Given the description of an element on the screen output the (x, y) to click on. 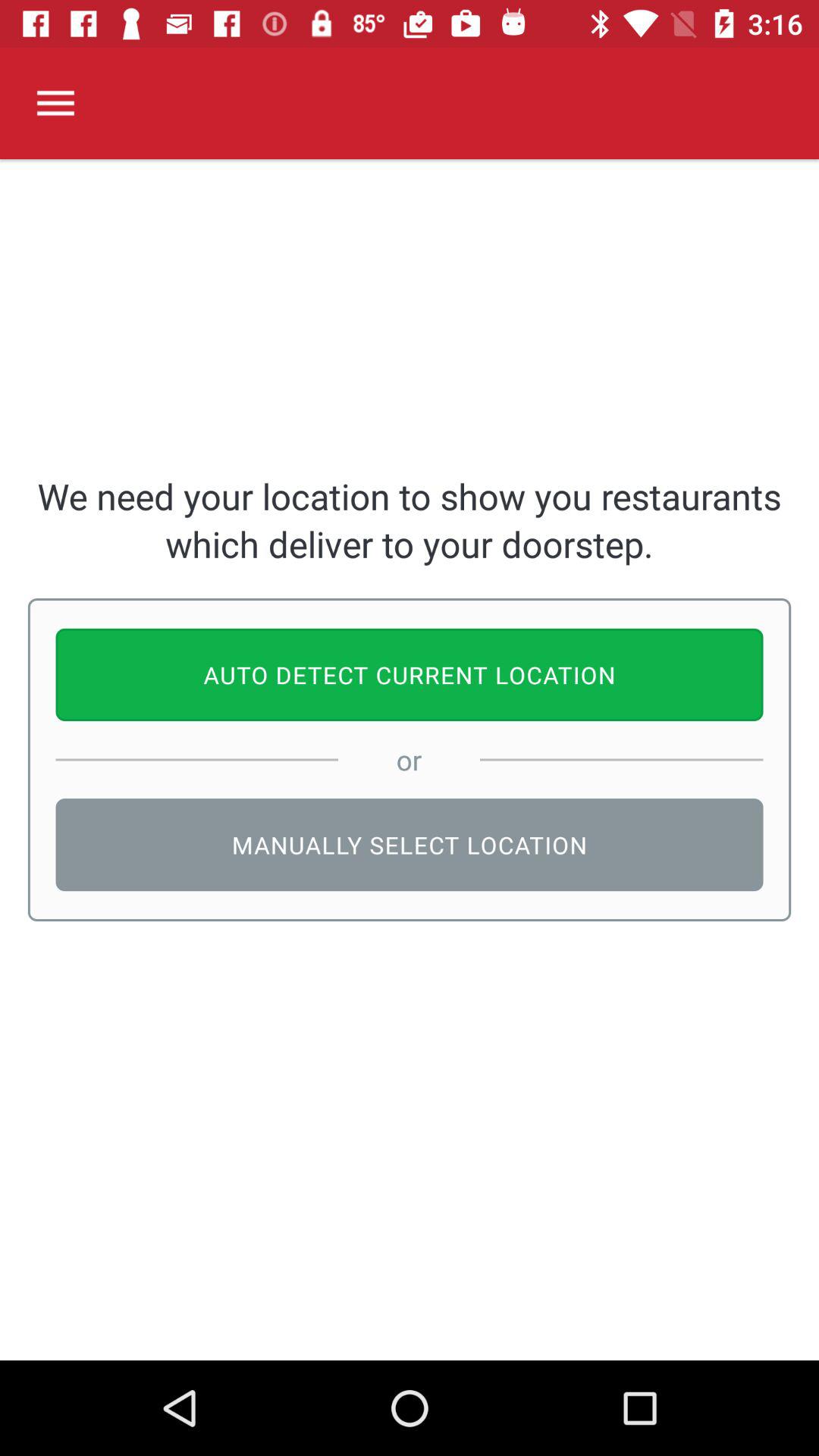
scroll until manually select location item (409, 844)
